Given the description of an element on the screen output the (x, y) to click on. 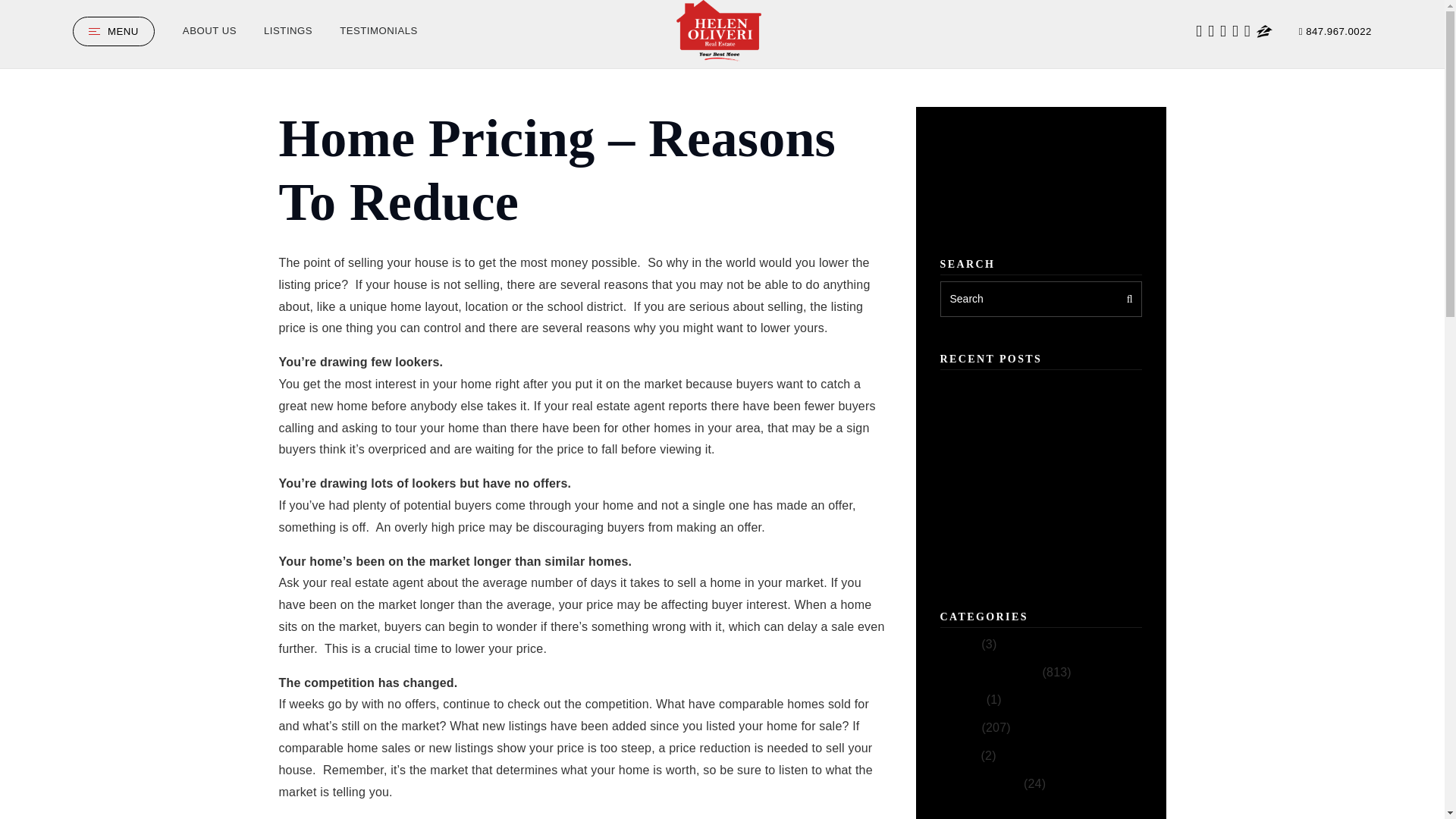
MENU (113, 30)
847.967.0022 (1334, 31)
ABOUT US (209, 30)
LISTINGS (288, 30)
TESTIMONIALS (378, 30)
MENU (113, 30)
